Given the description of an element on the screen output the (x, y) to click on. 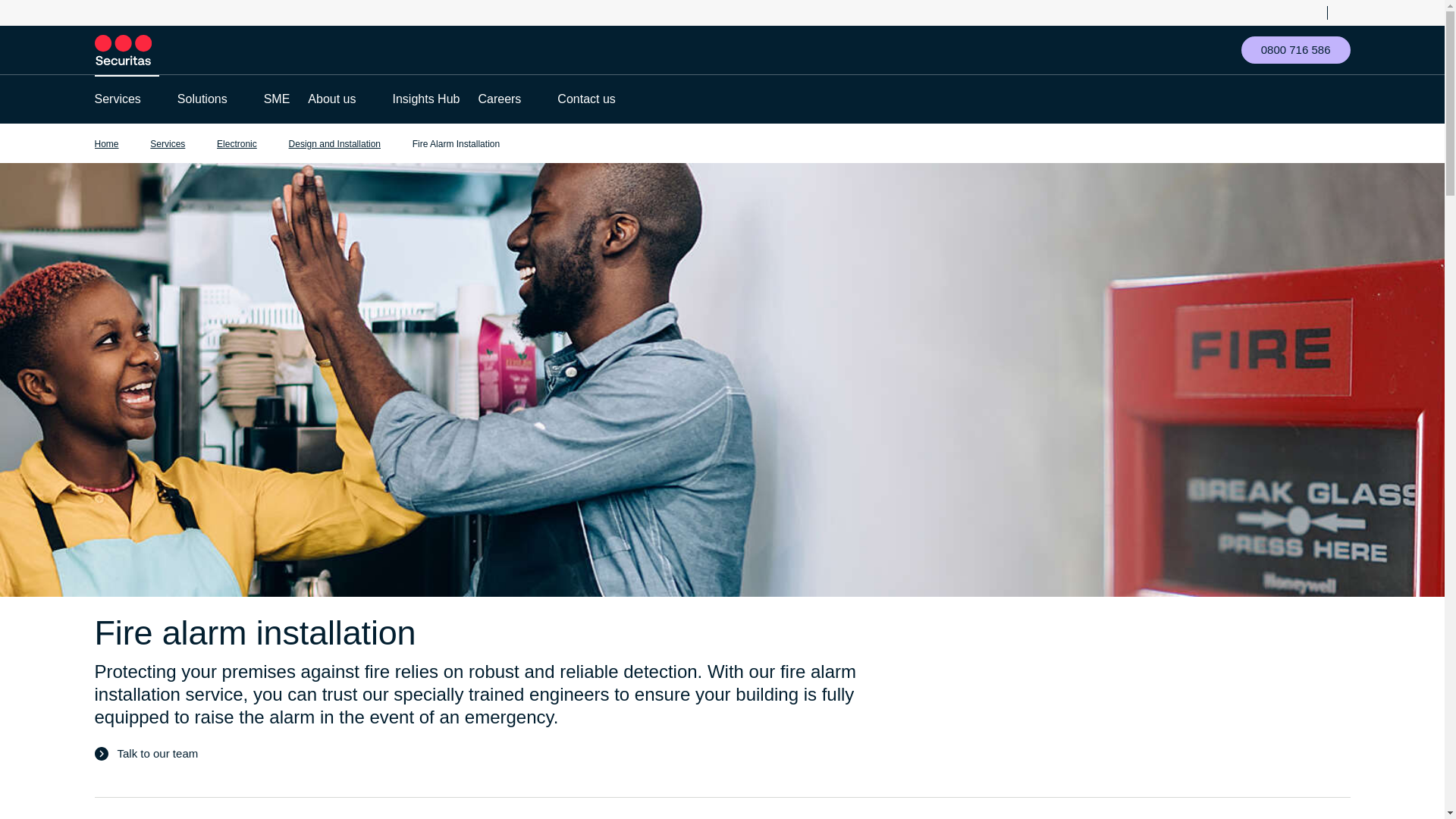
0800 716 586 (1296, 49)
Services (116, 99)
Select your country and language (1311, 12)
0800 716 586 (1296, 49)
